Given the description of an element on the screen output the (x, y) to click on. 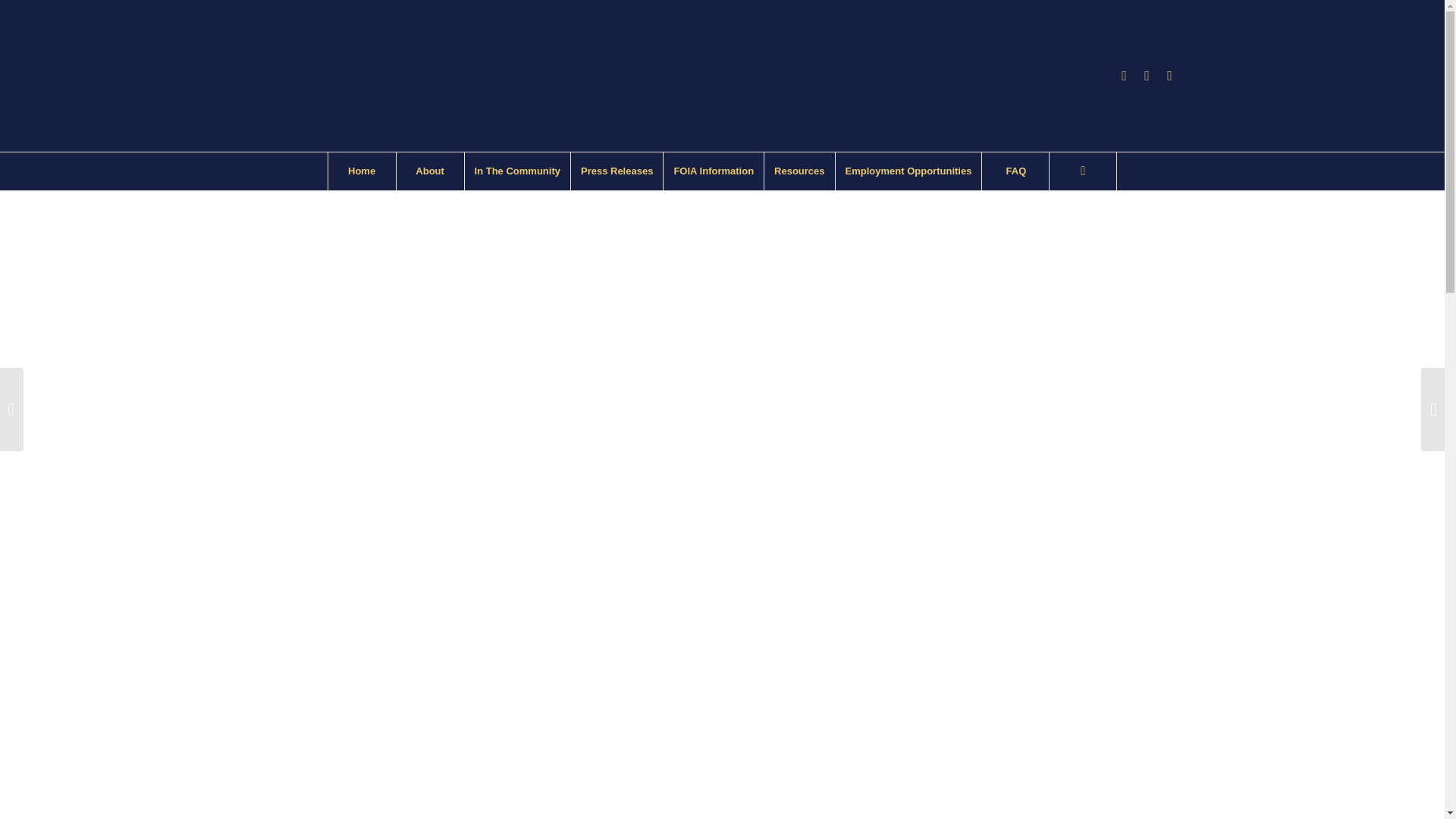
Facebook (1124, 75)
Instagram (1146, 75)
Home (361, 171)
About (430, 171)
Twitter (1169, 75)
In The Community (517, 171)
